Given the description of an element on the screen output the (x, y) to click on. 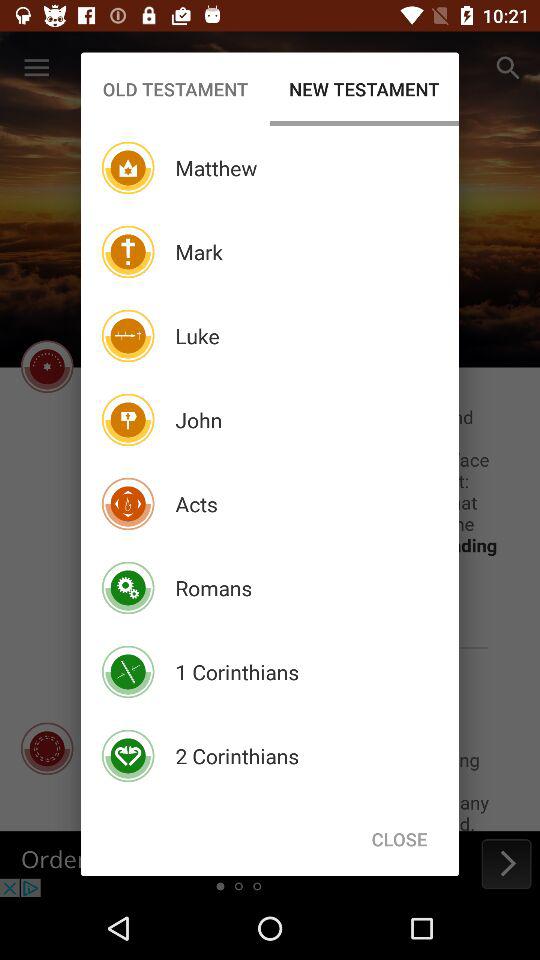
turn on item below the new testament icon (399, 838)
